Given the description of an element on the screen output the (x, y) to click on. 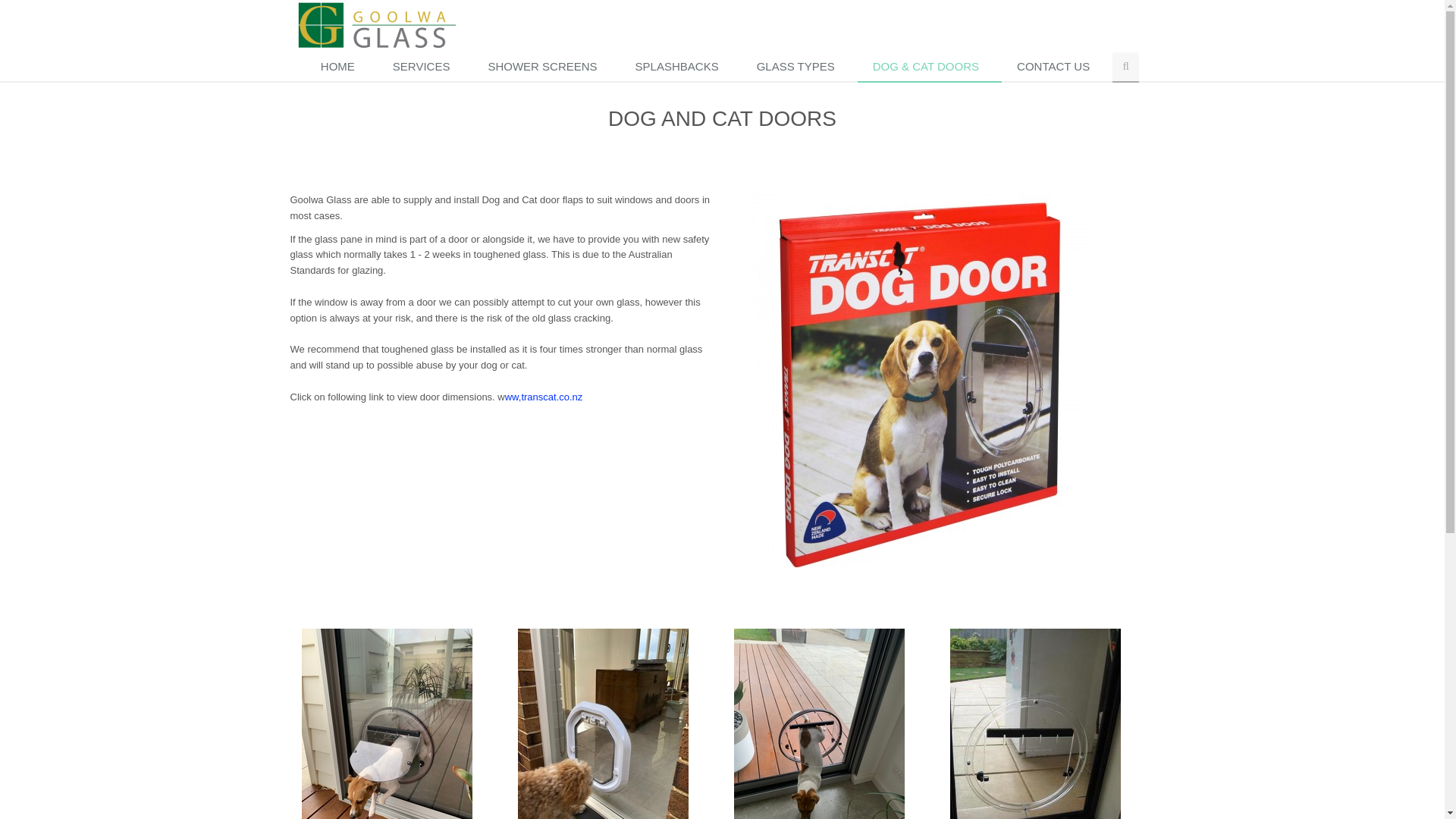
GLASS TYPES Element type: text (799, 67)
CONTACT US Element type: text (1056, 67)
ww,transcat.co.nz Element type: text (544, 396)
SPLASHBACKS Element type: text (680, 67)
HOME Element type: text (341, 67)
SERVICES Element type: text (425, 67)
SHOWER SCREENS Element type: text (545, 67)
DOG & CAT DOORS Element type: text (929, 67)
